Given the description of an element on the screen output the (x, y) to click on. 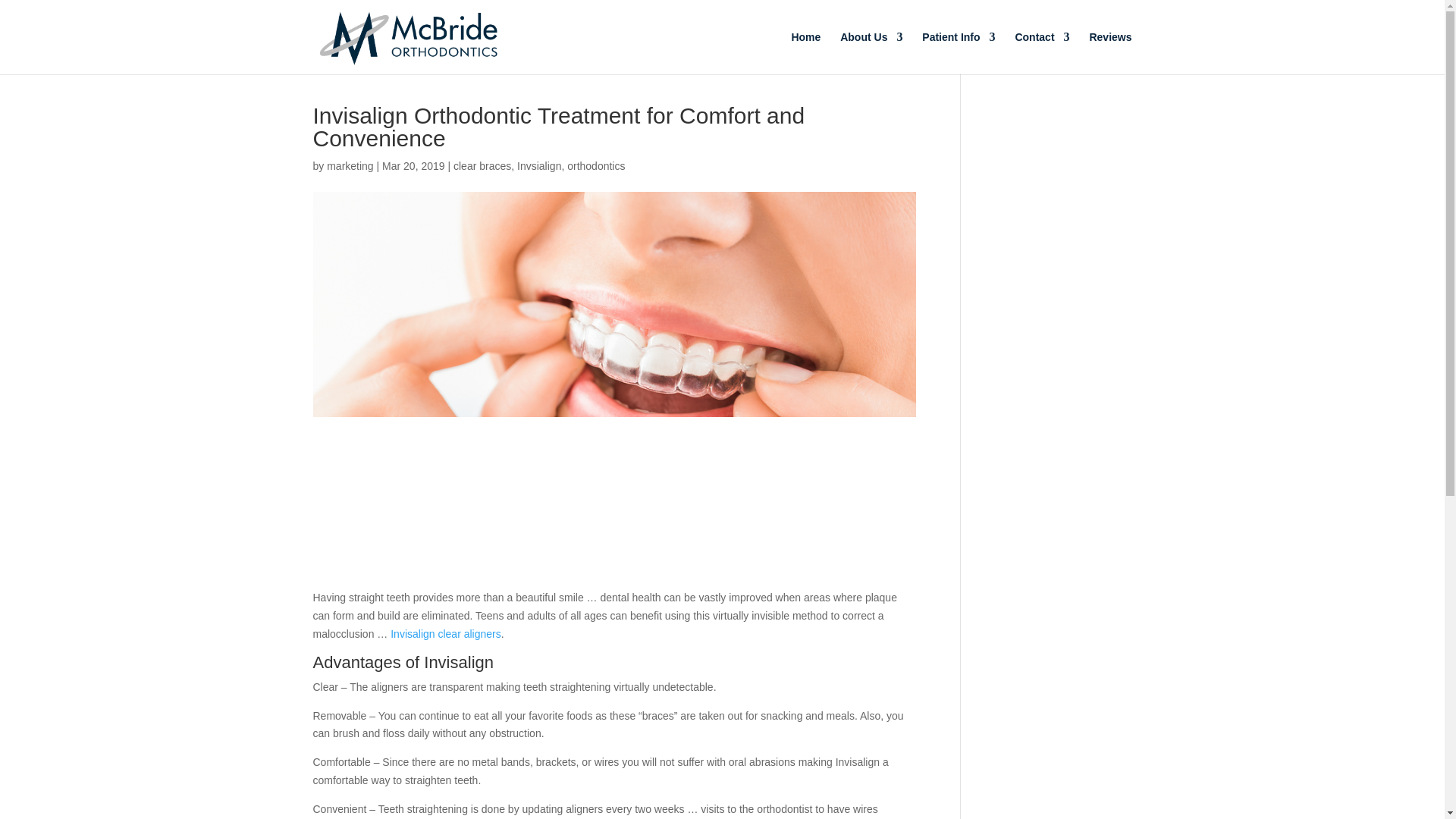
marketing (349, 165)
Posts by marketing (349, 165)
orthodontics (595, 165)
Reviews (1110, 52)
Patient Info (957, 52)
clear braces (481, 165)
Invsialign (538, 165)
Invisalign clear aligners (445, 633)
About Us (871, 52)
Contact (1041, 52)
